Given the description of an element on the screen output the (x, y) to click on. 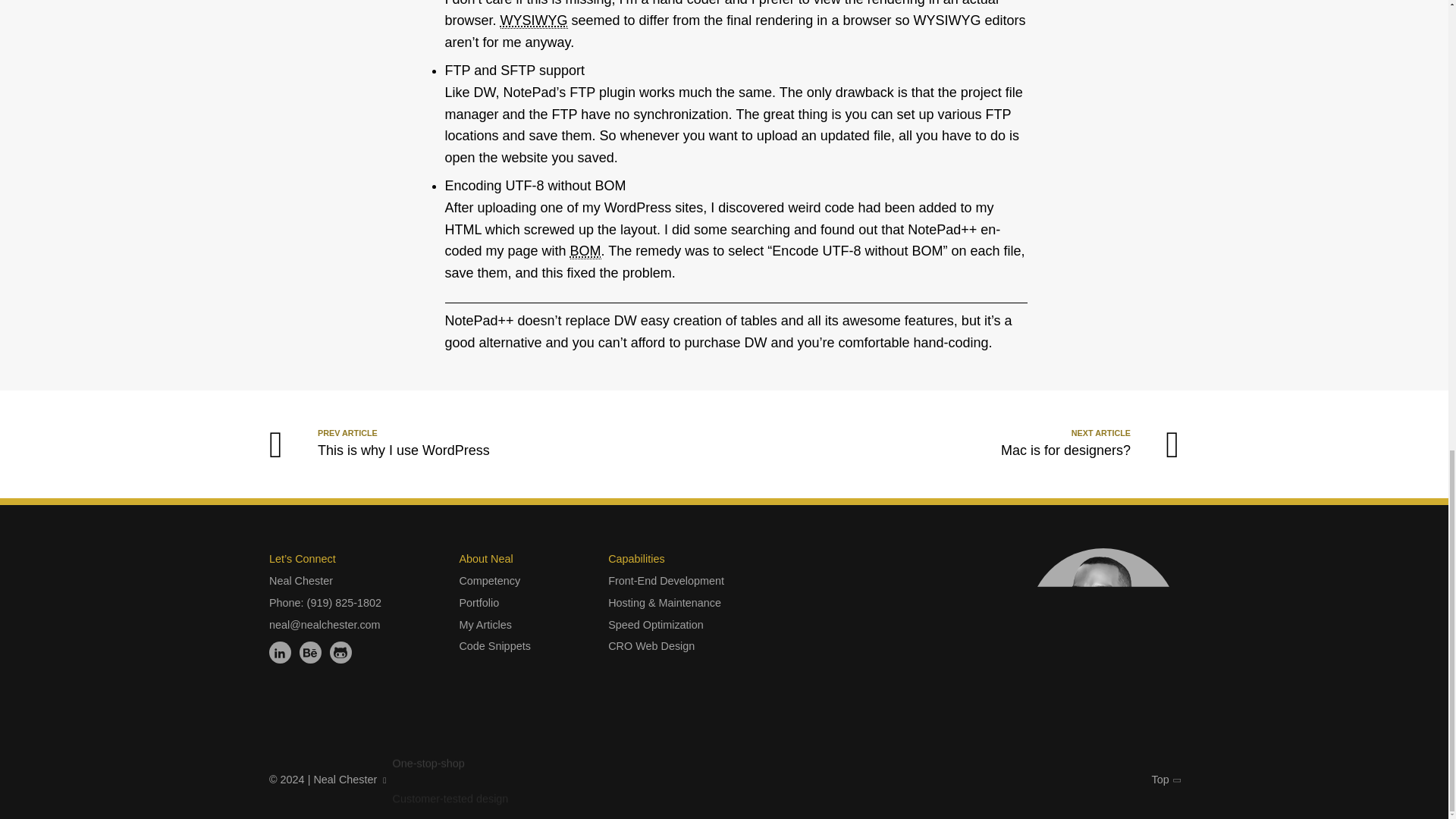
Linked In (280, 652)
Byte Order Mark (585, 251)
CRO Web Design (651, 645)
Neal Chester (301, 581)
Code Snippets (493, 645)
My Articles (485, 625)
Behance Work (361, 443)
What You See Is What You Get (310, 652)
Speed Optimization (533, 20)
